Given the description of an element on the screen output the (x, y) to click on. 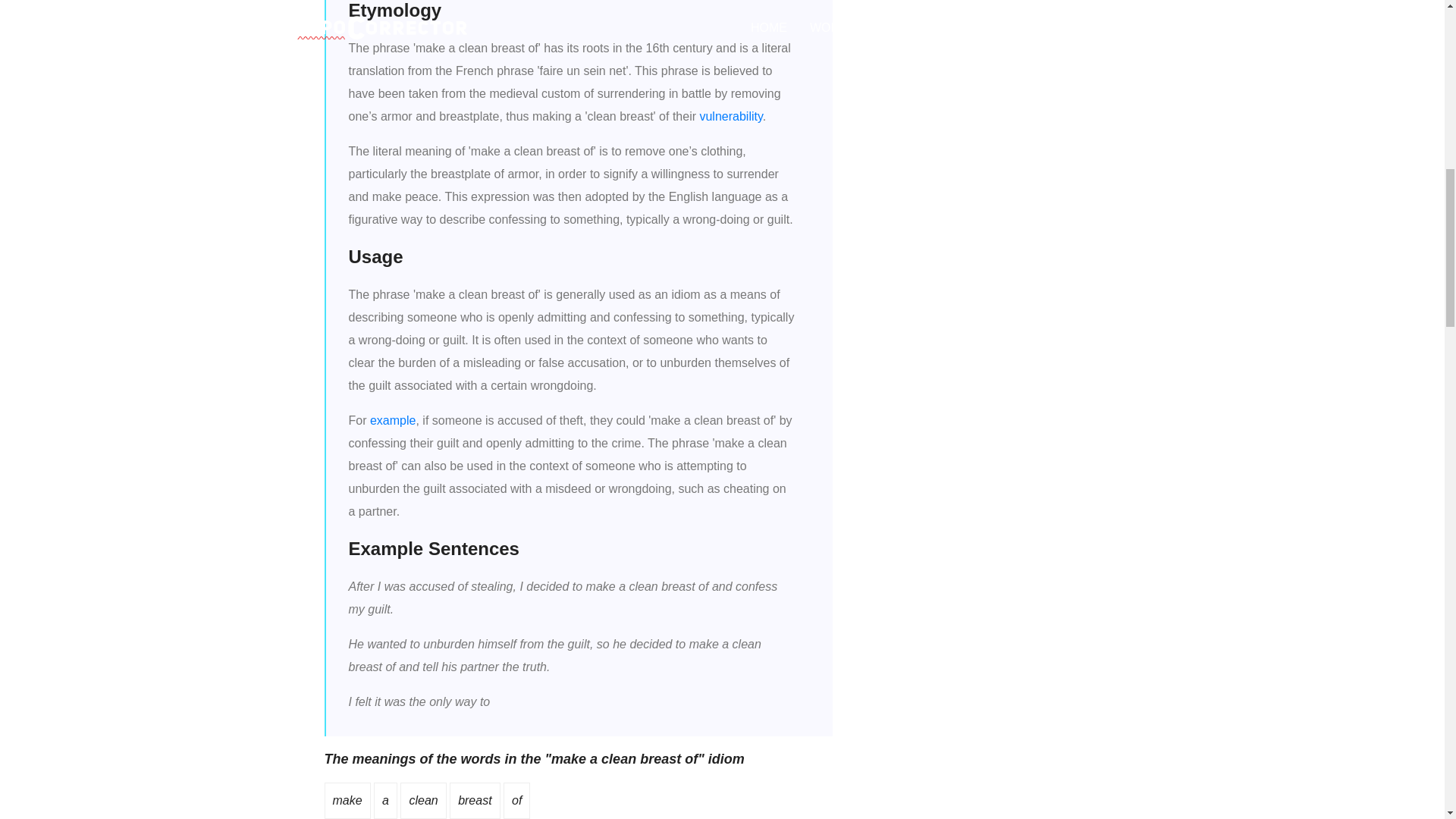
vulnerability (729, 115)
breast (475, 799)
Correct spelling of breast (475, 799)
make (346, 799)
Correct spelling of make (346, 799)
example (391, 420)
Correct spelling of clean (423, 799)
clean (423, 799)
